Given the description of an element on the screen output the (x, y) to click on. 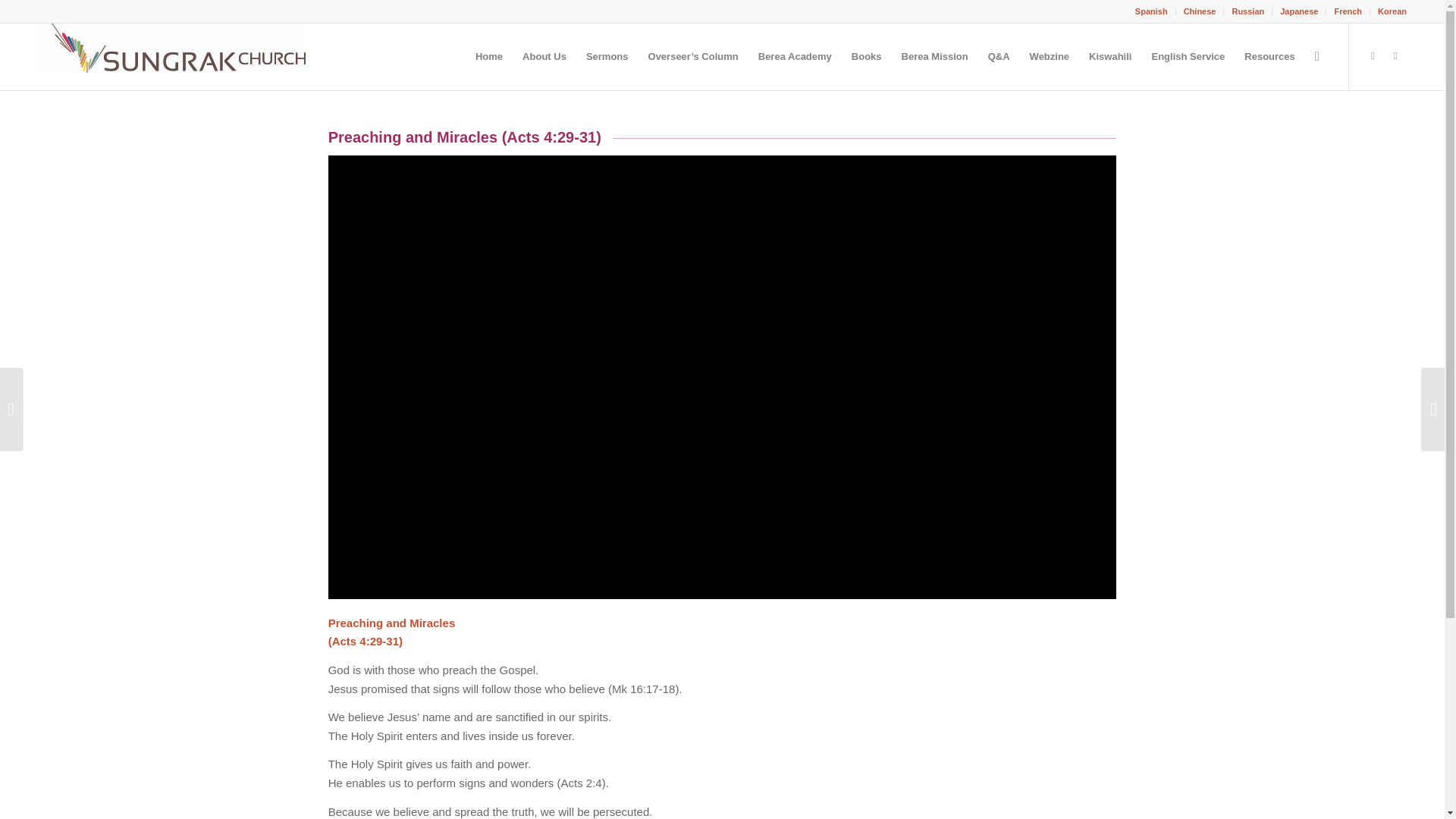
Sermons (607, 56)
French (1347, 11)
Chinese (1199, 11)
Facebook (1372, 56)
About Us (544, 56)
Korean (1391, 11)
Youtube (1395, 56)
Sungrak Church Website Logo 5 (171, 56)
Spanish (1151, 11)
Russian (1247, 11)
